Given the description of an element on the screen output the (x, y) to click on. 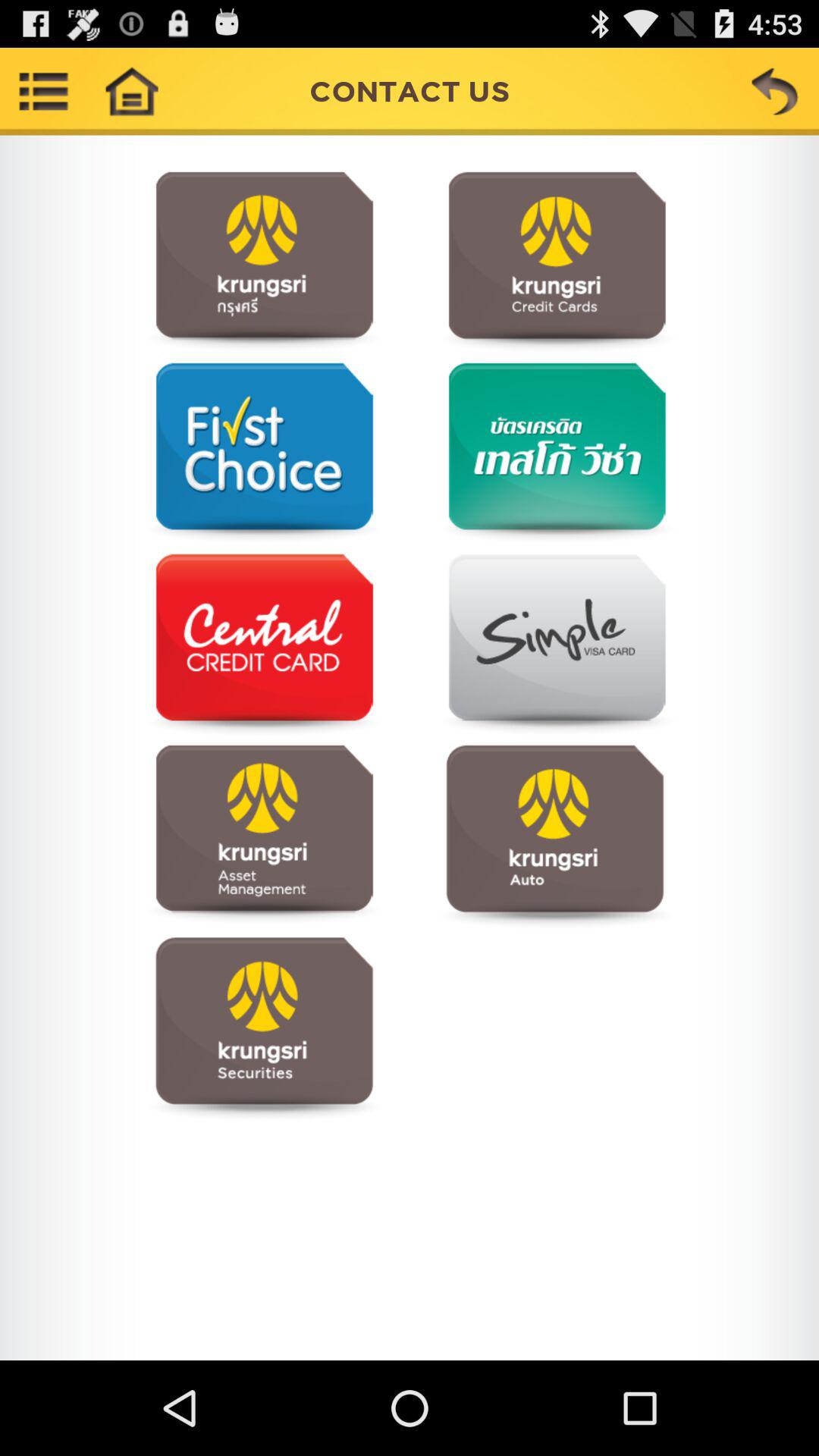
tap for menu (263, 644)
